Given the description of an element on the screen output the (x, y) to click on. 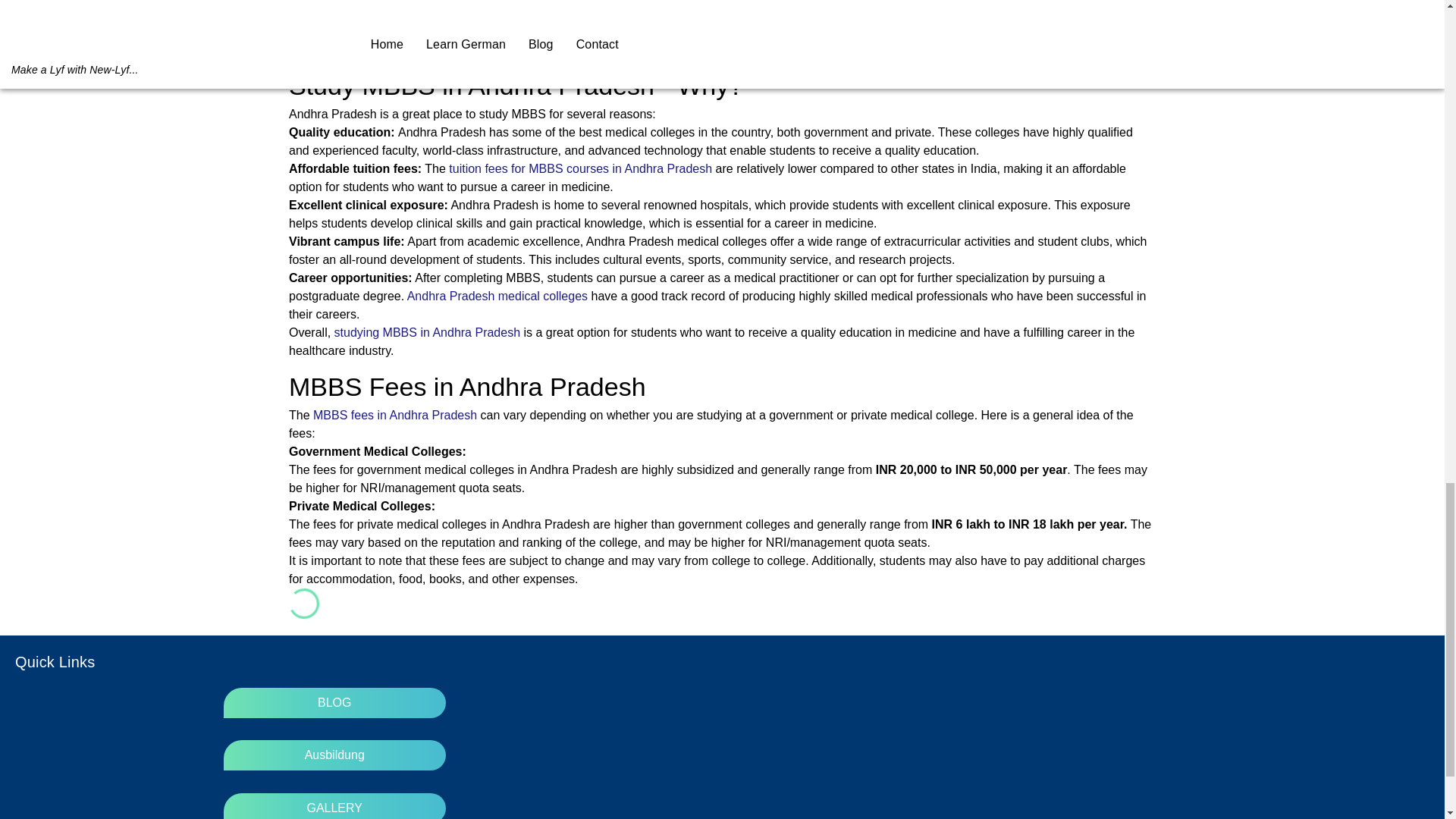
MBBS fees in Andhra Pradesh (395, 414)
BLOG (334, 702)
Andhra Pradesh medical colleges (497, 295)
studying MBBS in Andhra Pradesh (426, 332)
tuition fees for MBBS courses in Andhra Pradesh (579, 168)
GALLERY (334, 807)
Ausbildung (334, 755)
